Given the description of an element on the screen output the (x, y) to click on. 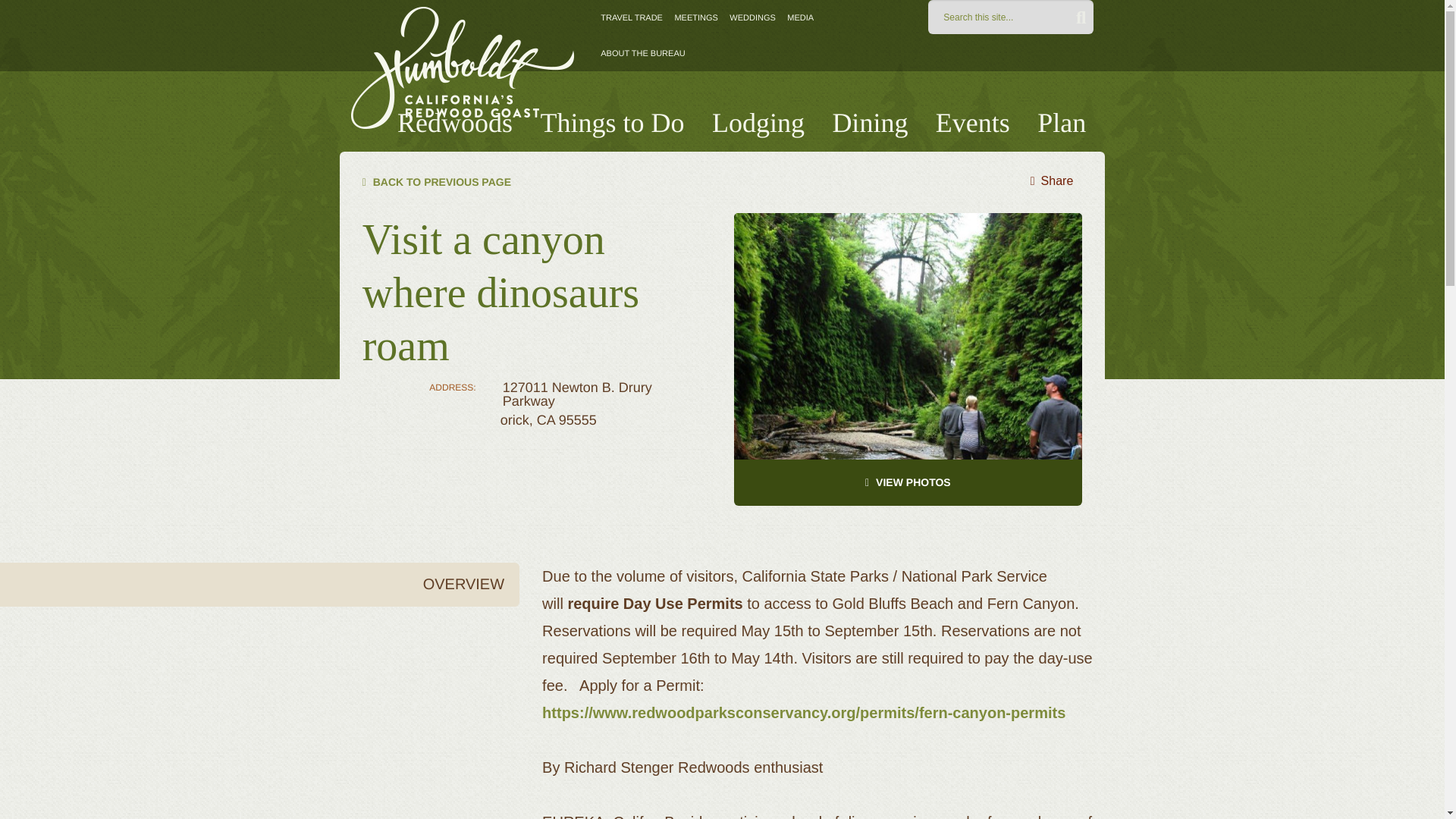
Media (800, 17)
Things to Do (612, 122)
Redwoods (454, 122)
TRAVEL TRADE (630, 17)
MEDIA (800, 17)
Meetings (695, 17)
ABOUT THE BUREAU (641, 53)
MEETINGS (695, 17)
Weddings (752, 17)
WEDDINGS (752, 17)
About the Bureau (641, 53)
Travel Trade (630, 17)
